Given the description of an element on the screen output the (x, y) to click on. 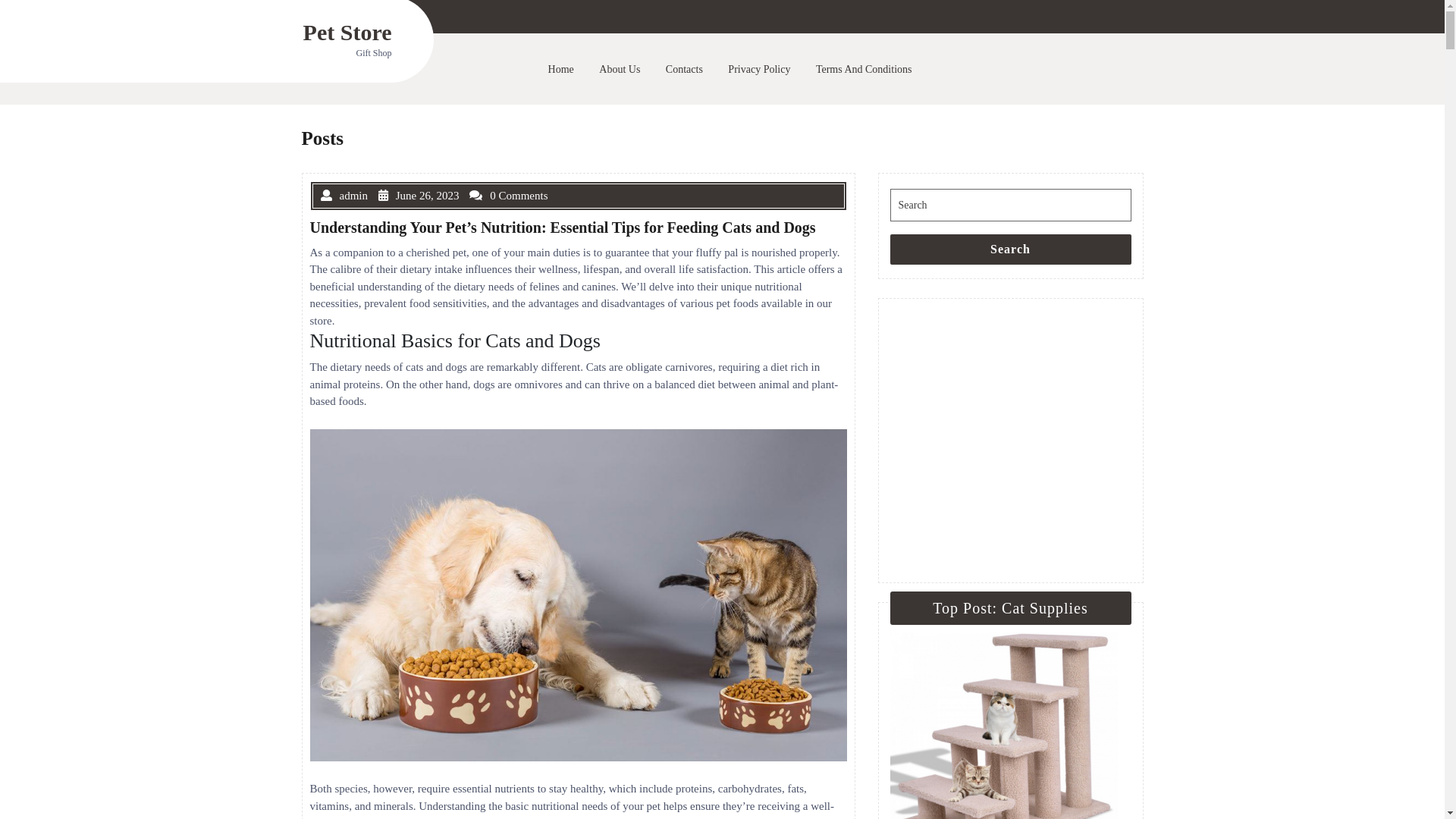
Pet Store Element type: text (347, 31)
Home Element type: text (564, 68)
Search Element type: text (1010, 248)
Privacy Policy Element type: text (762, 68)
Contacts Element type: text (688, 68)
About Us Element type: text (623, 68)
Terms And Conditions Element type: text (867, 68)
